Given the description of an element on the screen output the (x, y) to click on. 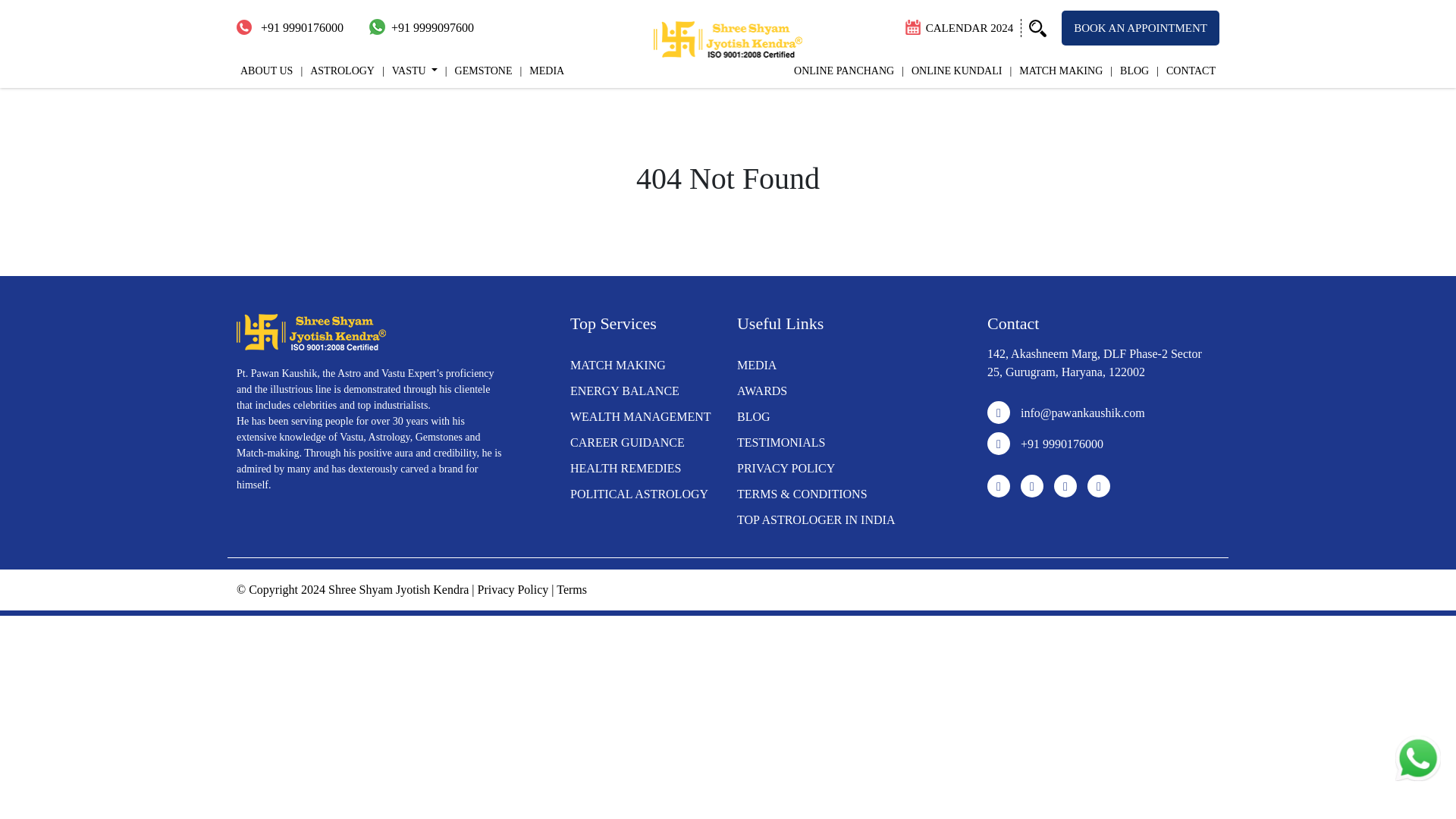
ABOUT US (266, 70)
BLOG (1129, 70)
CONTACT (1186, 70)
TESTIMONIALS (780, 441)
MEDIA (541, 70)
ASTROLOGY (337, 70)
MEDIA (756, 364)
TOP ASTROLOGER IN INDIA (815, 519)
MATCH MAKING (1056, 70)
BOOK AN APPOINTMENT (1140, 27)
ENERGY BALANCE (624, 390)
GEMSTONE (478, 70)
BLOG (753, 416)
VASTU (409, 70)
ONLINE KUNDALI (952, 70)
